Given the description of an element on the screen output the (x, y) to click on. 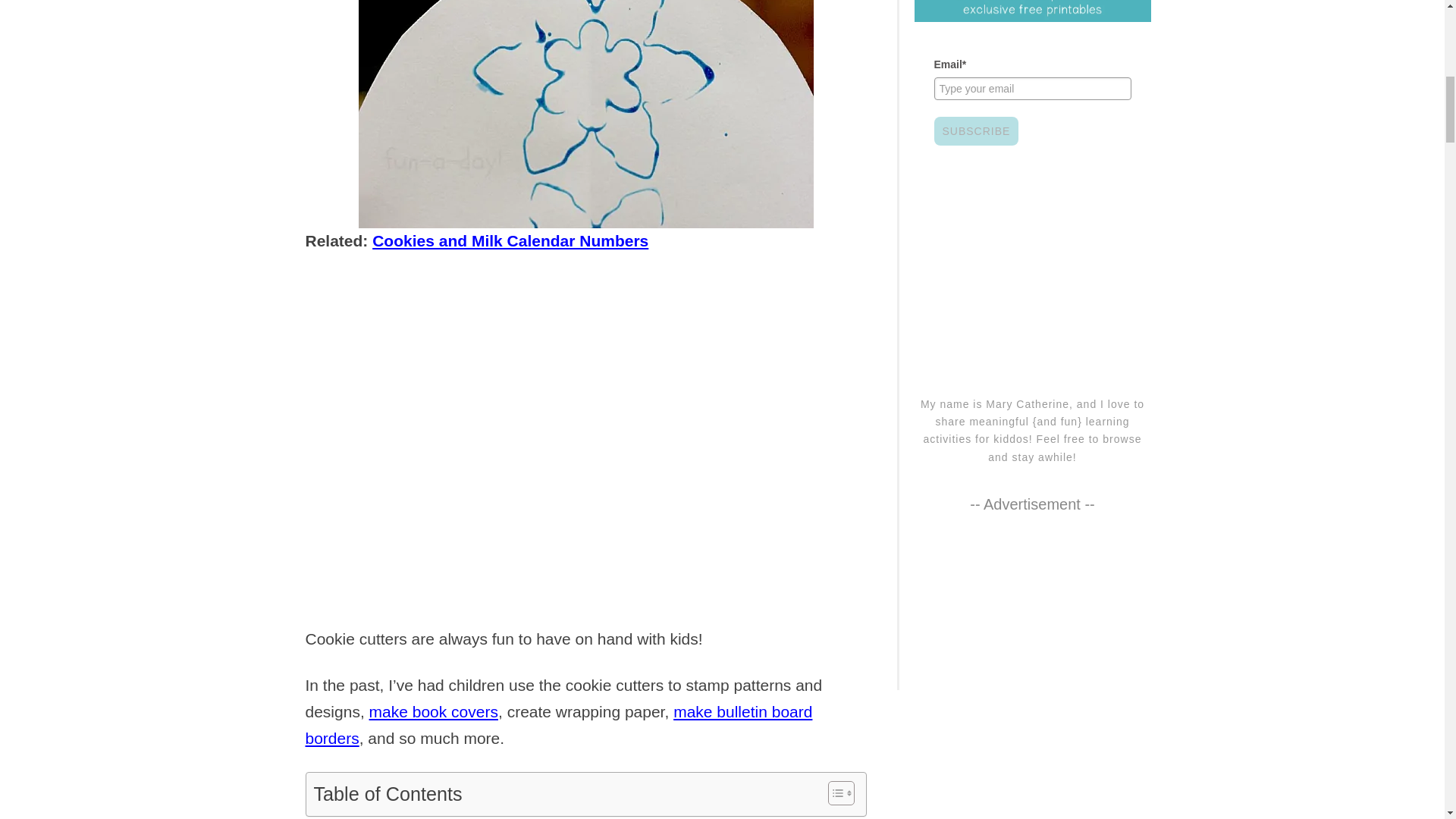
make book covers (433, 711)
Cookies and Milk Calendar Numbers (509, 240)
make bulletin board borders (558, 724)
